Given the description of an element on the screen output the (x, y) to click on. 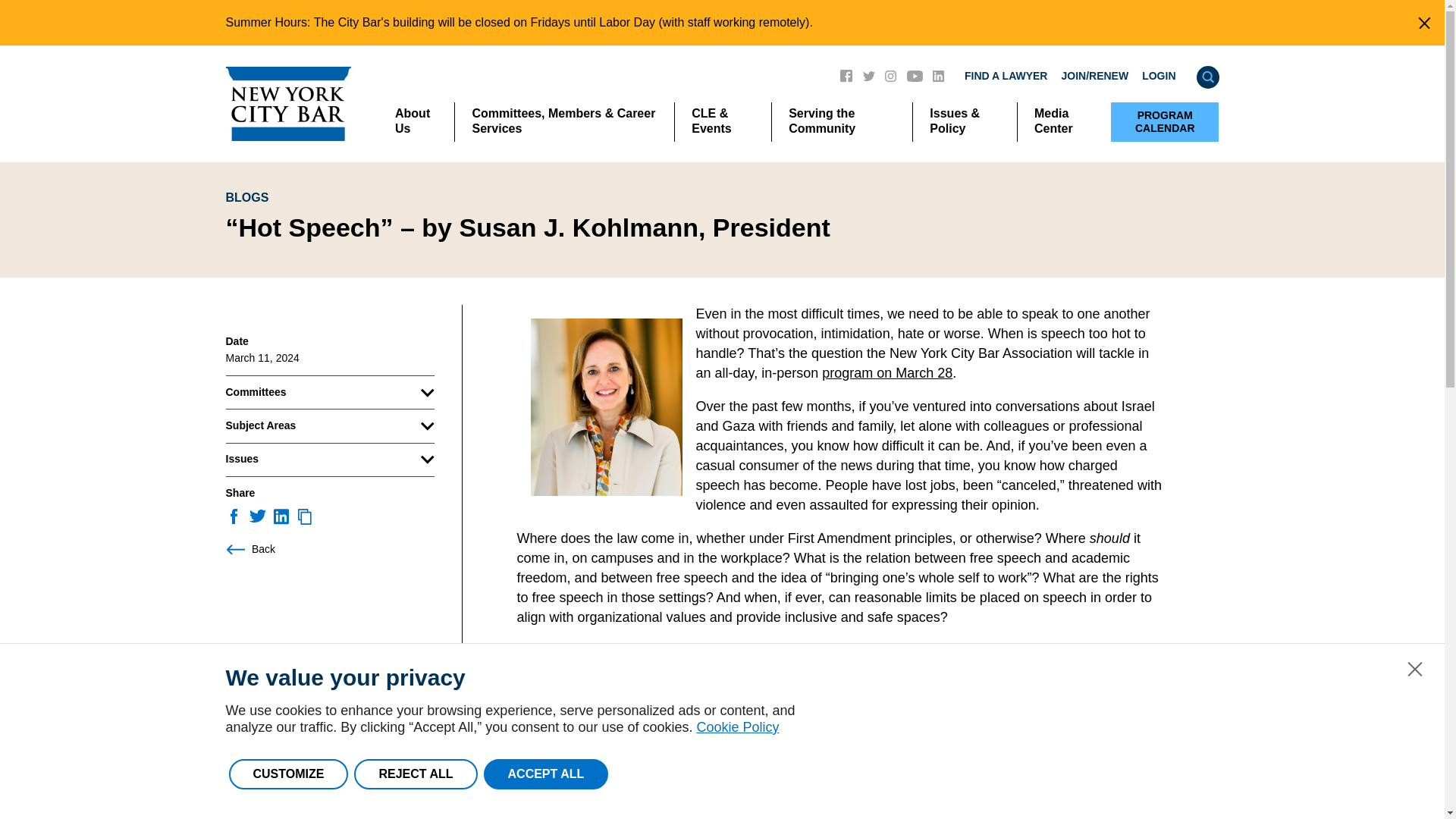
About Us (416, 121)
LOGIN (1157, 75)
FIND A LAWYER (1004, 75)
youtube (915, 74)
